Given the description of an element on the screen output the (x, y) to click on. 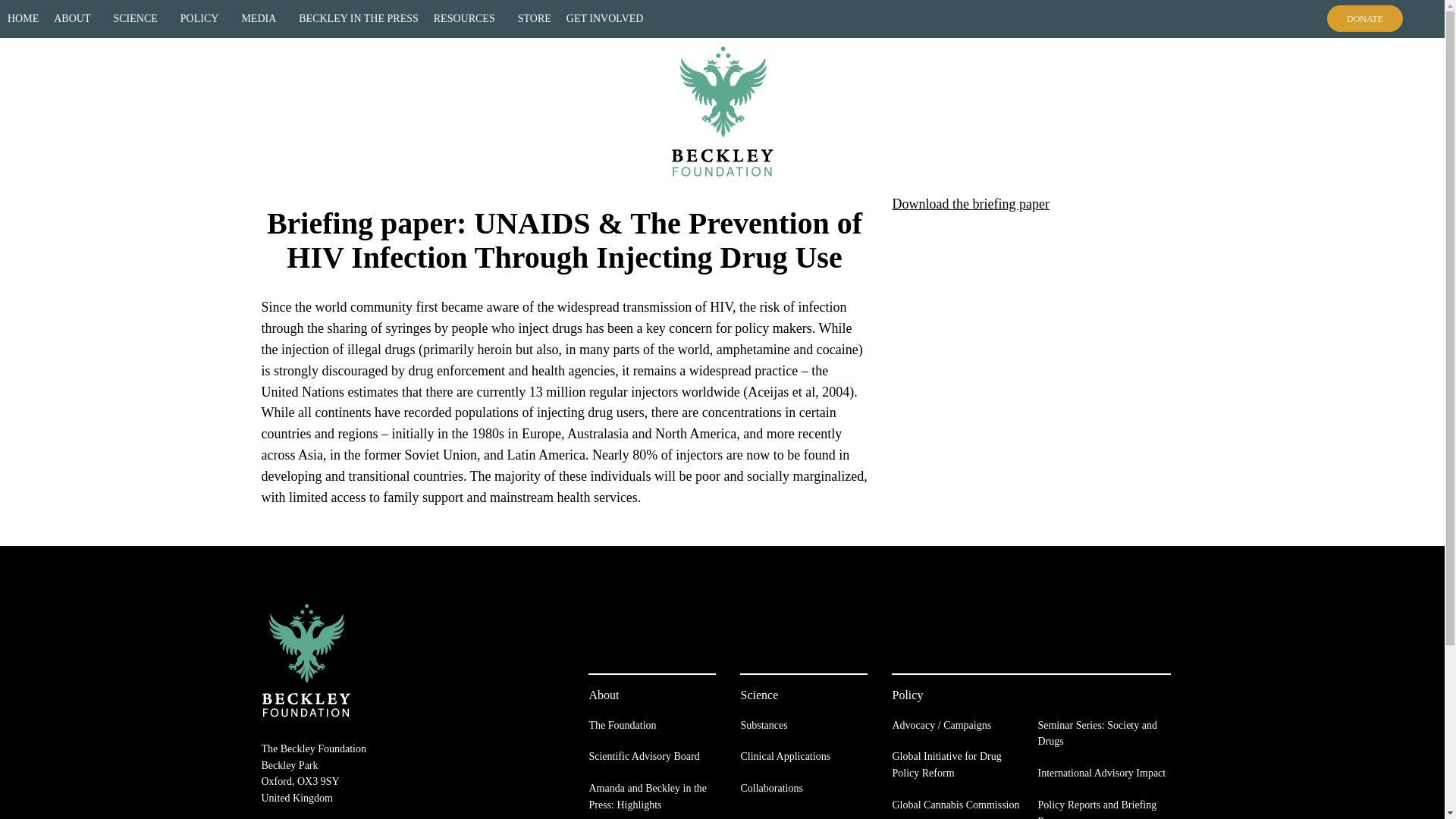
RESOURCES (468, 18)
SCIENCE (137, 18)
HOME (23, 18)
ABOUT (75, 18)
MEDIA (261, 18)
BECKLEY IN THE PRESS (358, 18)
POLICY (203, 18)
